Given the description of an element on the screen output the (x, y) to click on. 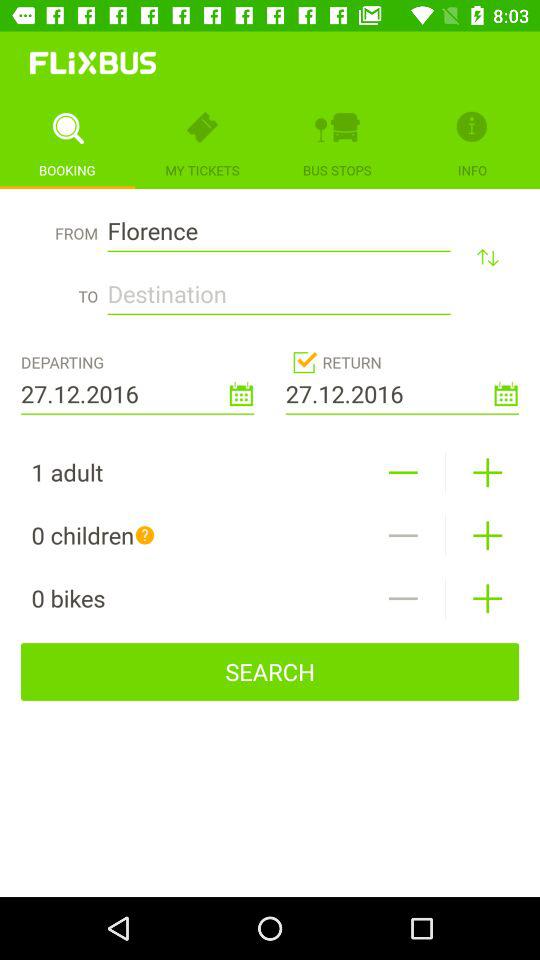
switch origin and destination (487, 256)
